Given the description of an element on the screen output the (x, y) to click on. 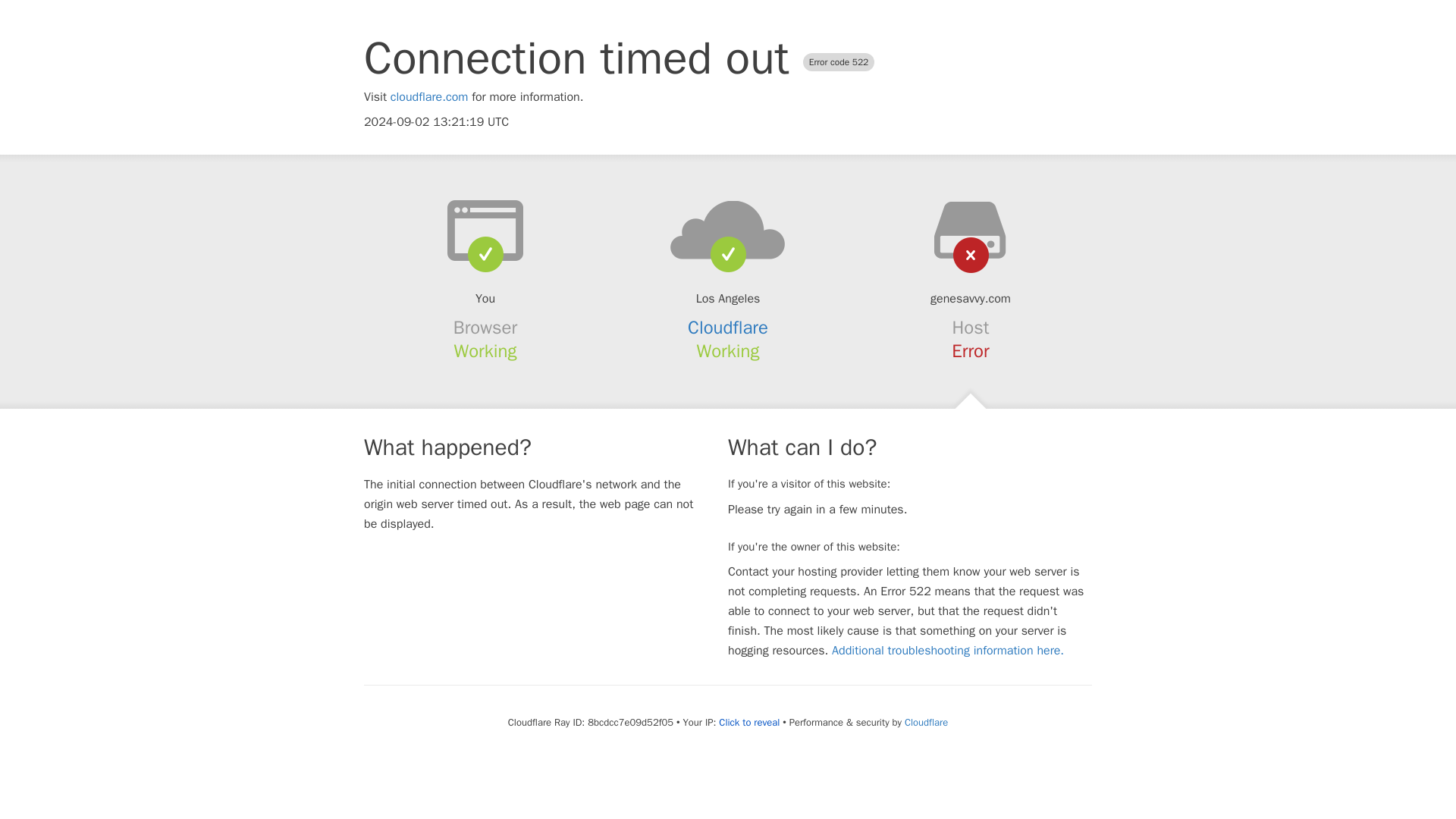
Cloudflare (727, 327)
Cloudflare (925, 721)
Click to reveal (748, 722)
Additional troubleshooting information here. (947, 650)
cloudflare.com (429, 96)
